Given the description of an element on the screen output the (x, y) to click on. 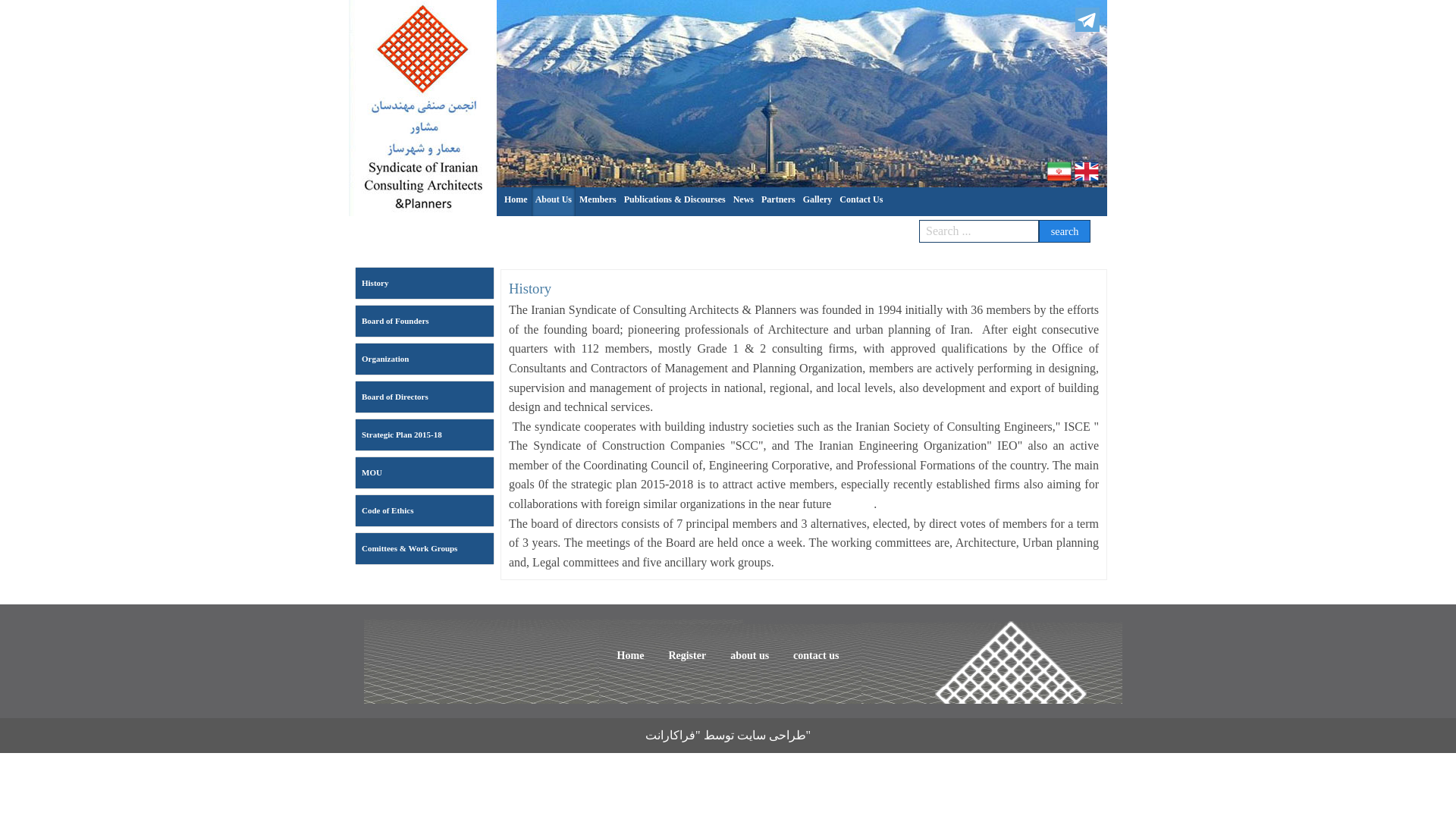
Organization (424, 358)
Register (686, 655)
Strategic Plan 2015-18 (424, 434)
about us (748, 655)
search (1064, 231)
Contact Us (860, 199)
History (424, 282)
Home (515, 199)
News (743, 199)
Members (597, 199)
Home (630, 655)
About Us (553, 199)
Partners (778, 199)
Board of Directors (424, 396)
Board of Founders (424, 320)
